Given the description of an element on the screen output the (x, y) to click on. 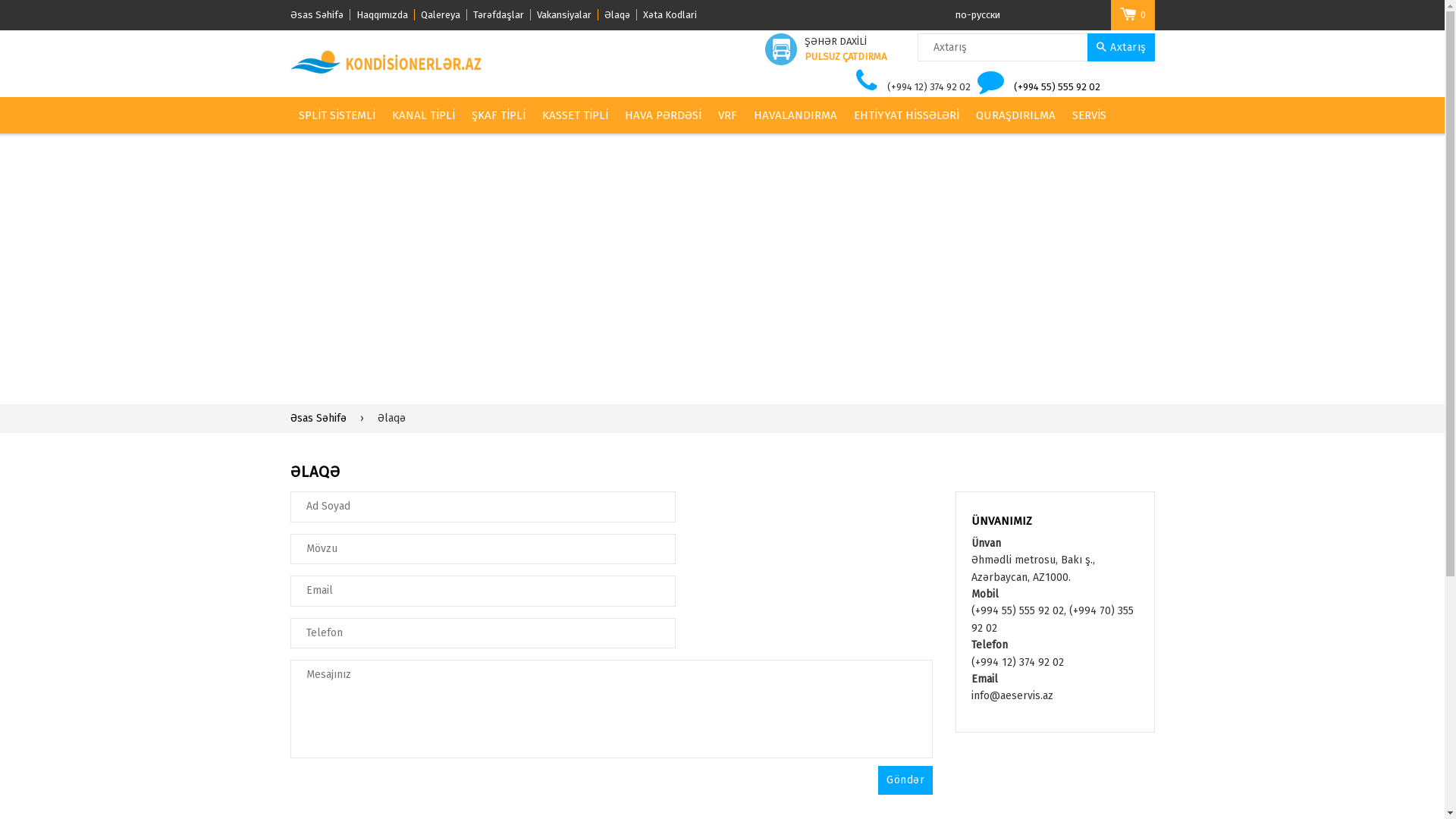
Kondisionerler.Az Element type: hover (386, 62)
Vakansiyalar Element type: text (567, 14)
HAVALANDIRMA Element type: text (795, 115)
Qalereya Element type: text (443, 14)
KANAL TIPLI Element type: text (422, 115)
0 Element type: text (1132, 15)
(+994 55) 555 92 02 Element type: text (1056, 86)
SPLIT SISTEMLI Element type: text (336, 115)
KASSET TIPLI Element type: text (574, 115)
SERVIS Element type: text (1088, 115)
VRF Element type: text (726, 115)
